Given the description of an element on the screen output the (x, y) to click on. 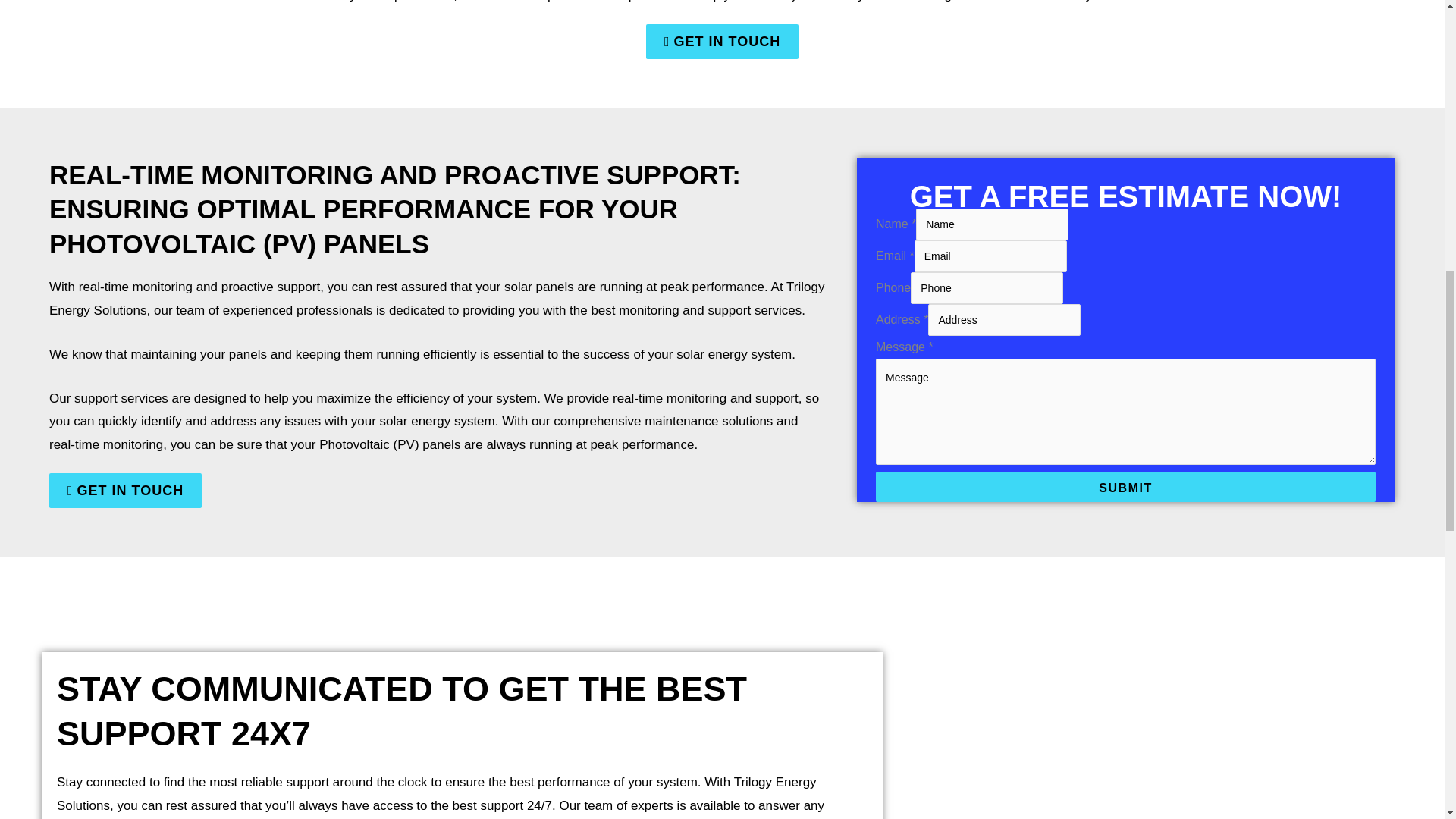
GET IN TOUCH (125, 490)
GET IN TOUCH (721, 41)
SUBMIT (1125, 486)
